Given the description of an element on the screen output the (x, y) to click on. 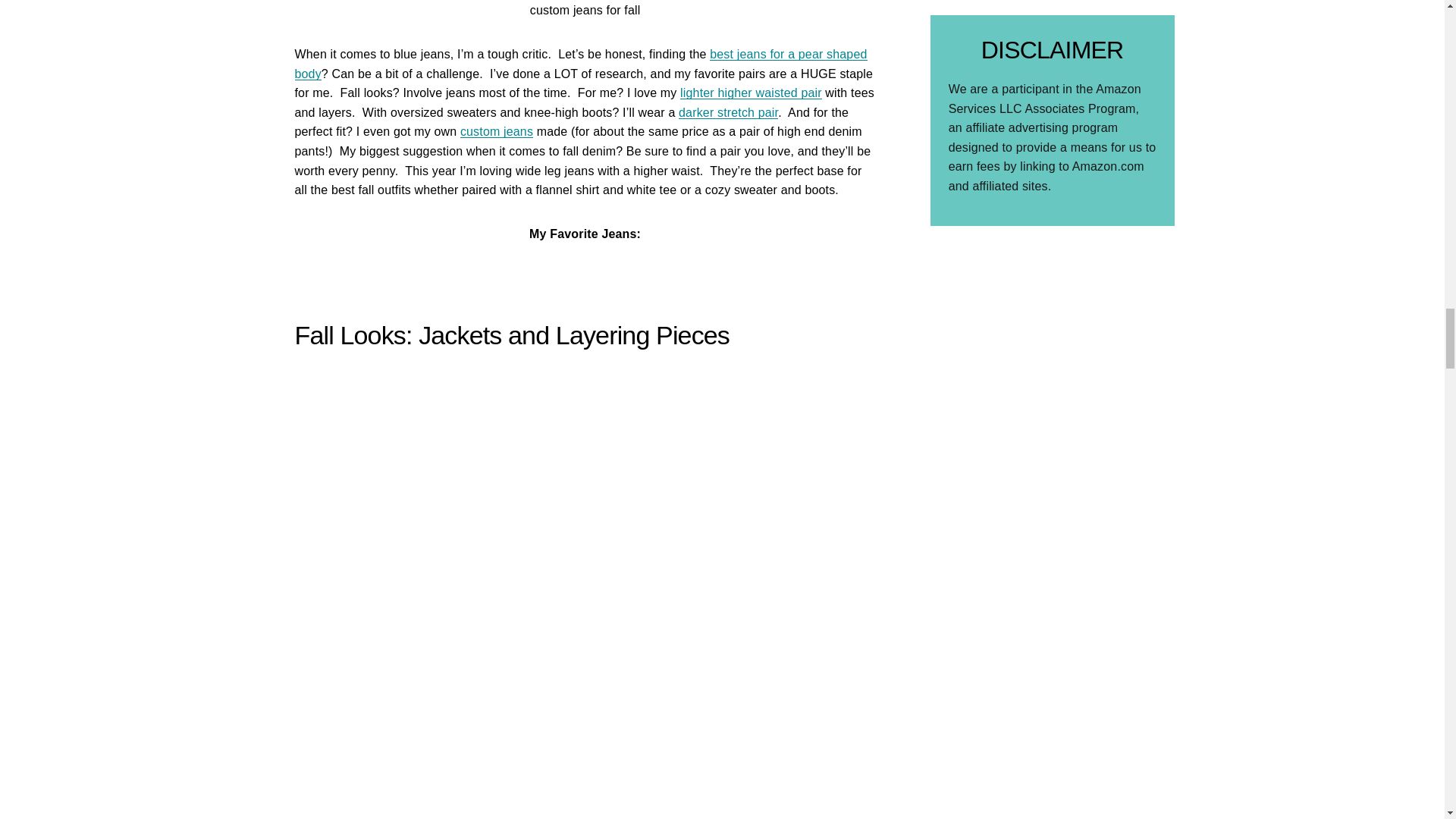
darker stretch pair (727, 112)
lighter higher waisted pair (750, 92)
best jeans for a pear shaped body (580, 63)
